Given the description of an element on the screen output the (x, y) to click on. 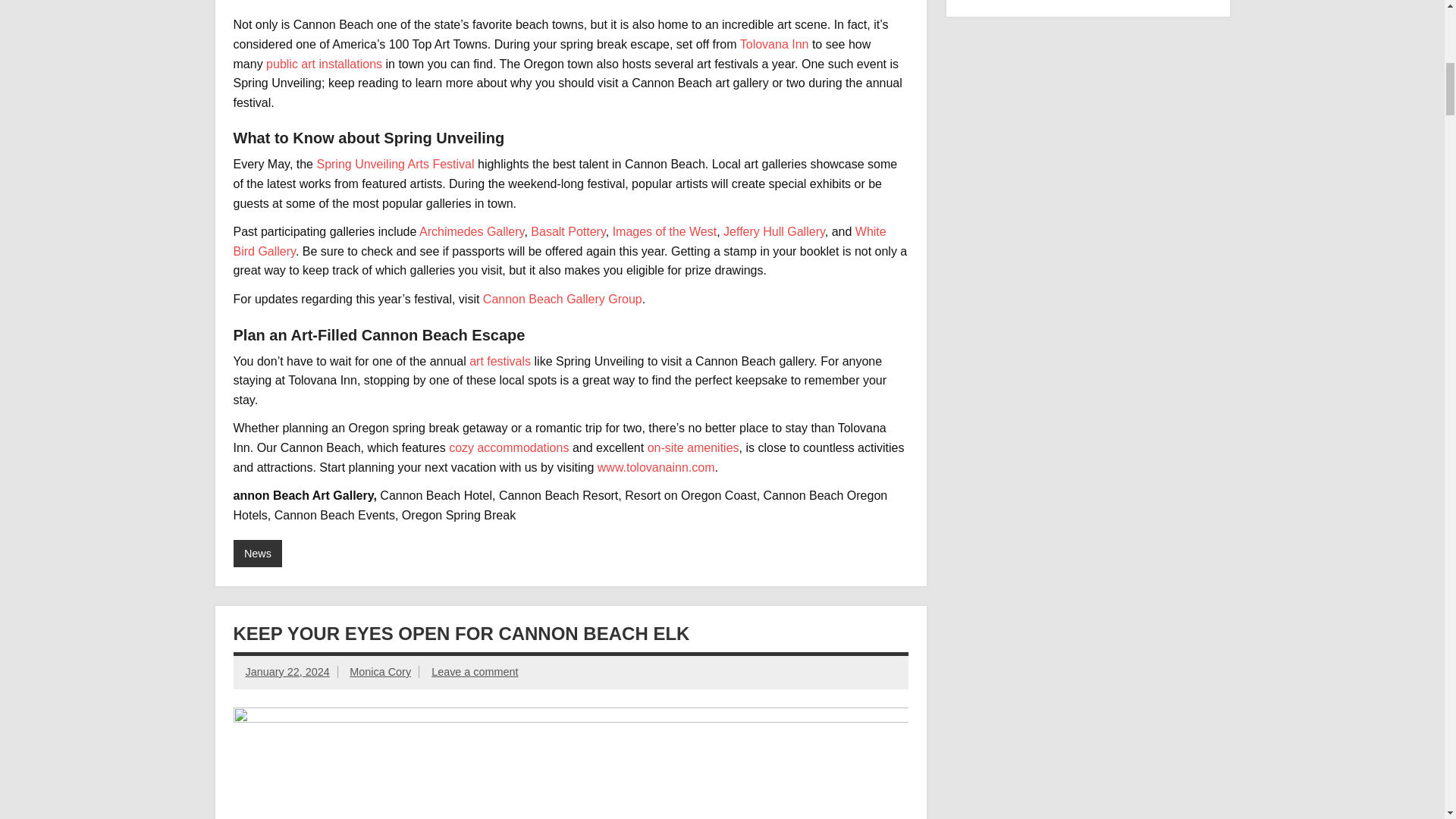
2:55 pm (288, 671)
public art installations (323, 63)
Basalt Pottery (568, 231)
Images of the West (664, 231)
Archimedes Gallery (471, 231)
Spring Unveiling Arts Festival (394, 164)
View all posts by Monica Cory (379, 671)
Tolovana Inn (774, 43)
